Given the description of an element on the screen output the (x, y) to click on. 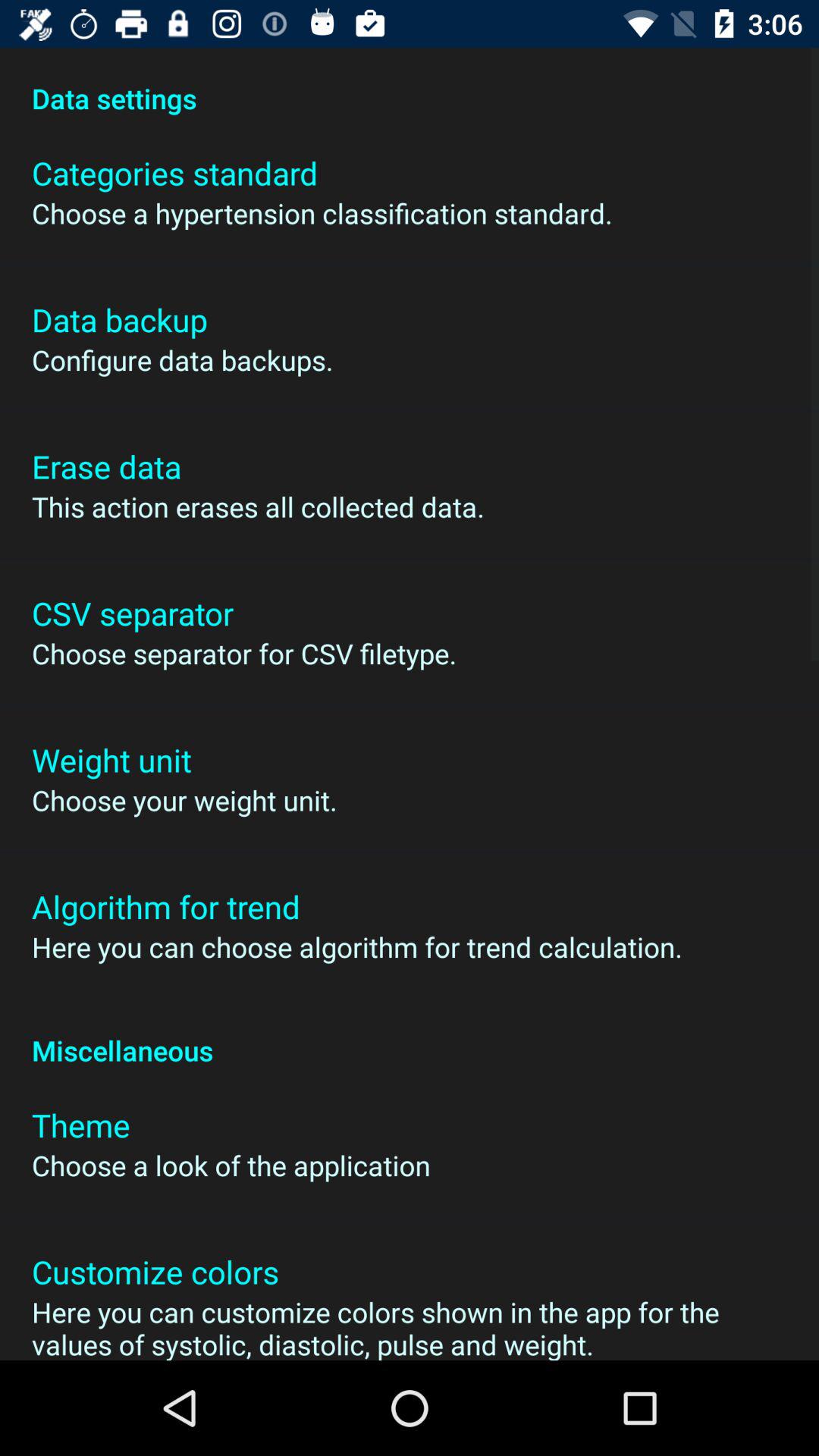
choose choose your weight icon (184, 800)
